Given the description of an element on the screen output the (x, y) to click on. 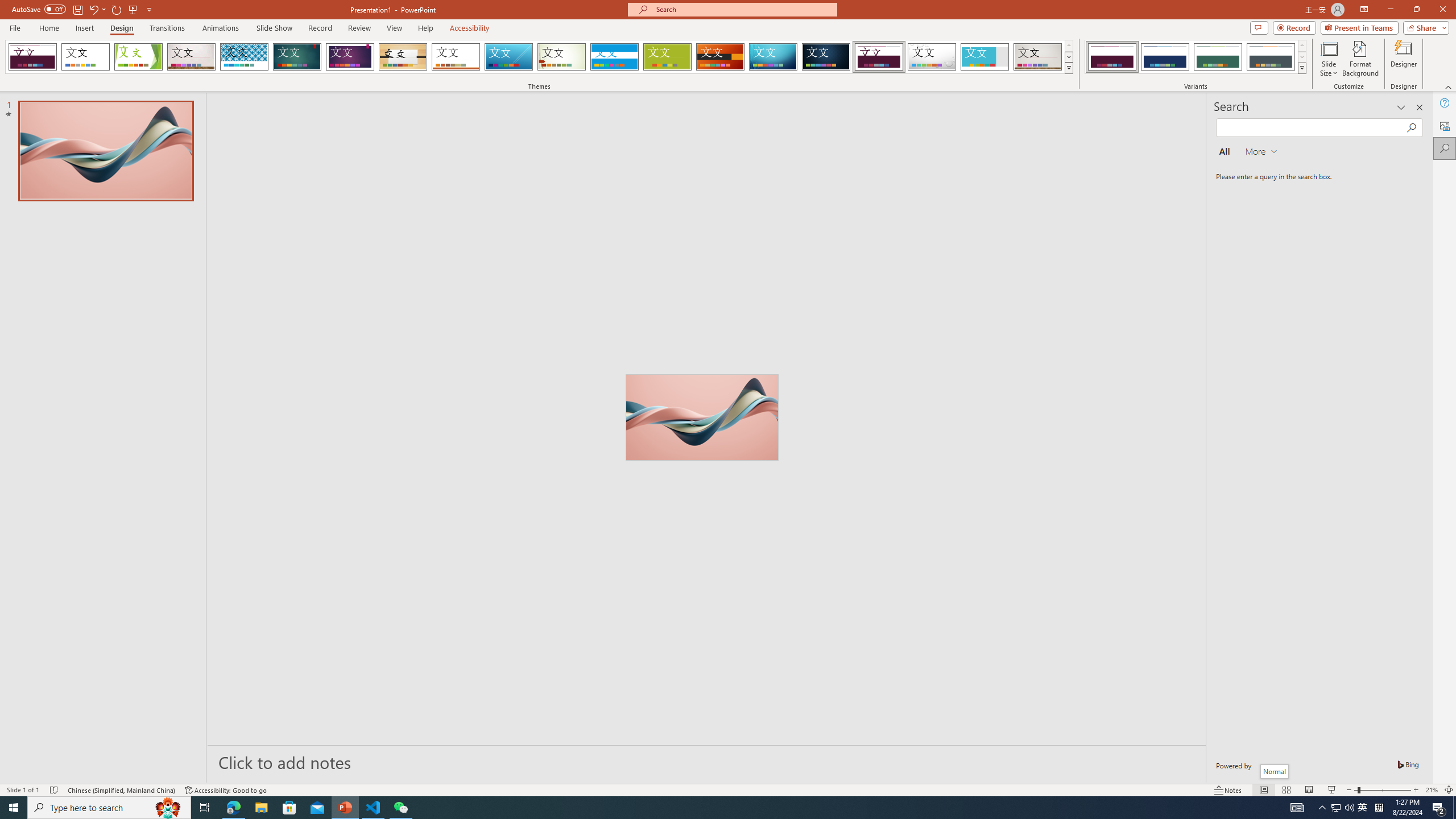
Variants (1301, 67)
Organic (403, 56)
Damask (826, 56)
